Given the description of an element on the screen output the (x, y) to click on. 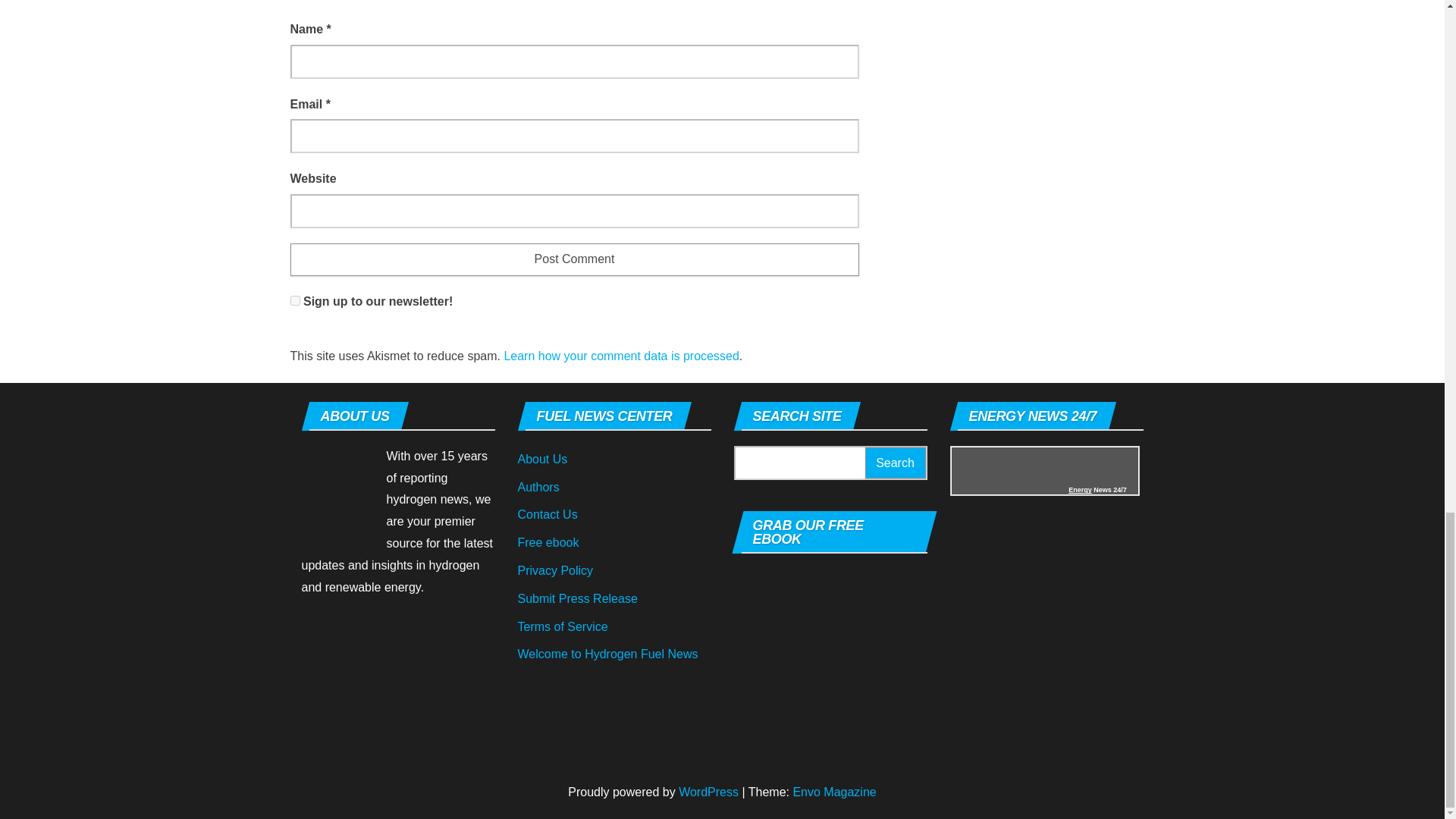
Post Comment (574, 259)
1 (294, 300)
Search (894, 462)
